Given the description of an element on the screen output the (x, y) to click on. 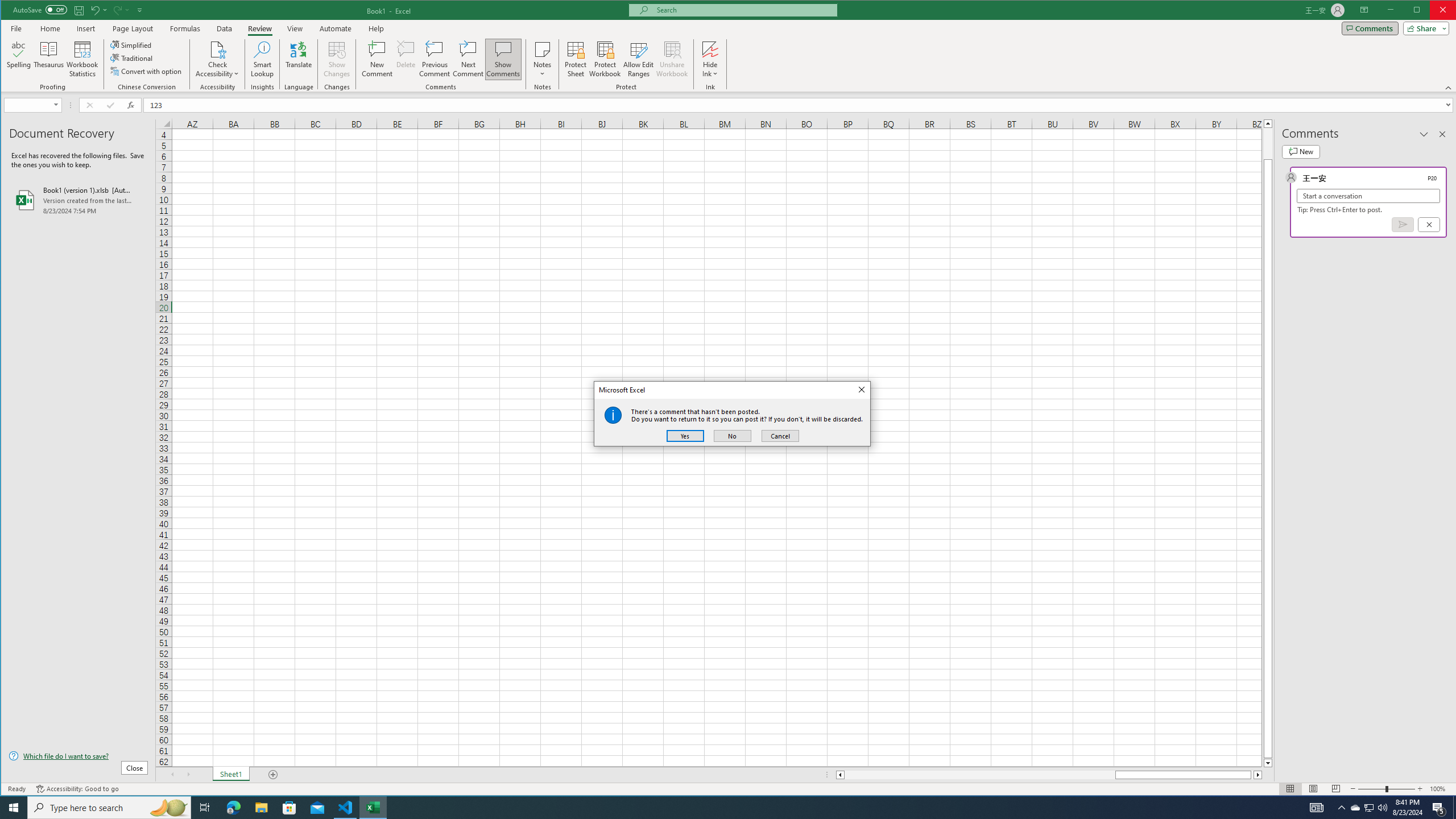
Line up (1267, 122)
System (11, 10)
Start a conversation (1368, 195)
AutoSave (39, 9)
Excel - 1 running window (373, 807)
Hide Ink (710, 48)
Notification Chevron (1341, 807)
Share (1423, 27)
Post comment (Ctrl + Enter) (1402, 224)
Cancel (780, 435)
Running applications (717, 807)
Data (224, 28)
